Given the description of an element on the screen output the (x, y) to click on. 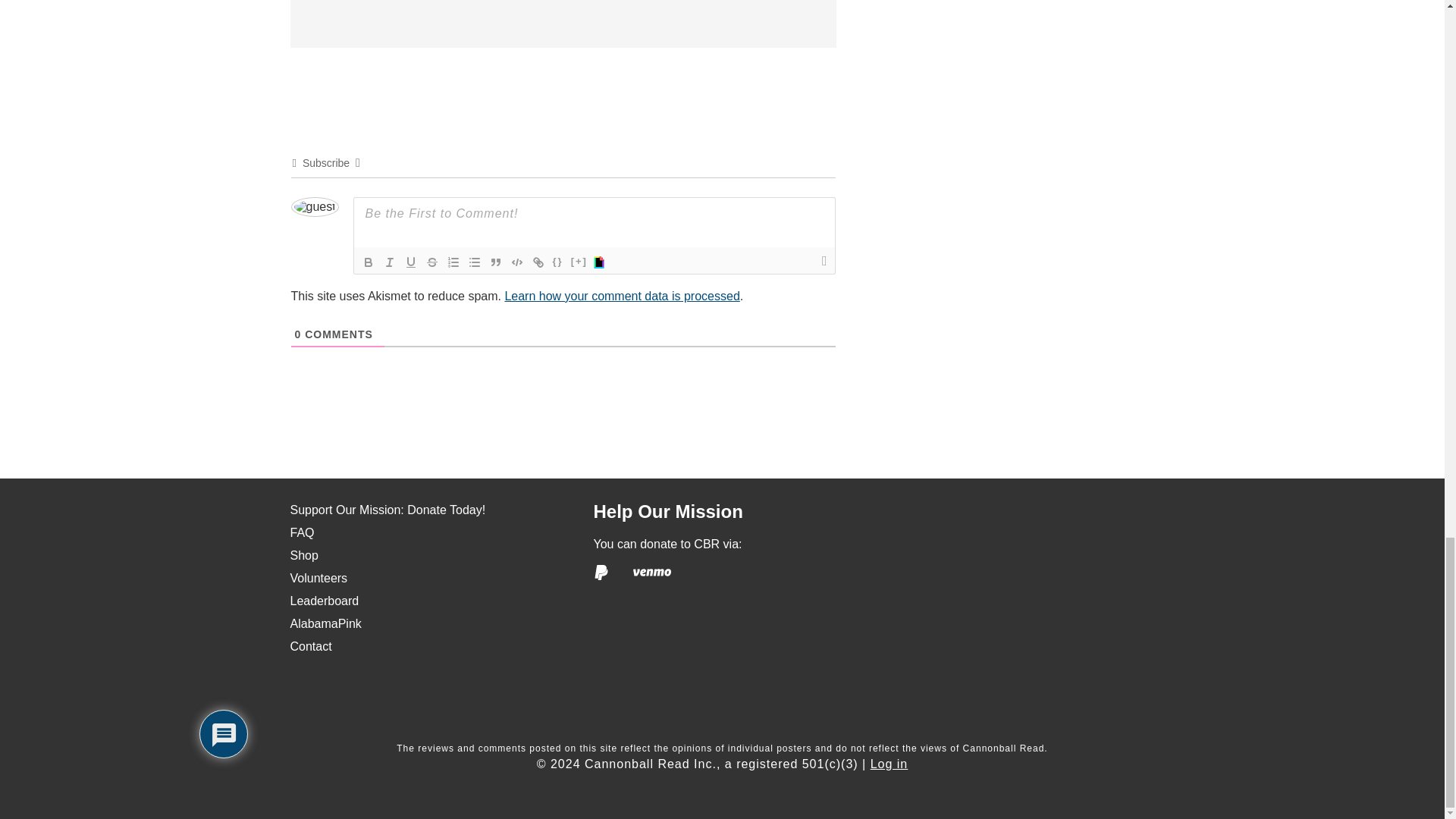
Bold (368, 262)
PayPal (600, 572)
Venmo (652, 572)
